Given the description of an element on the screen output the (x, y) to click on. 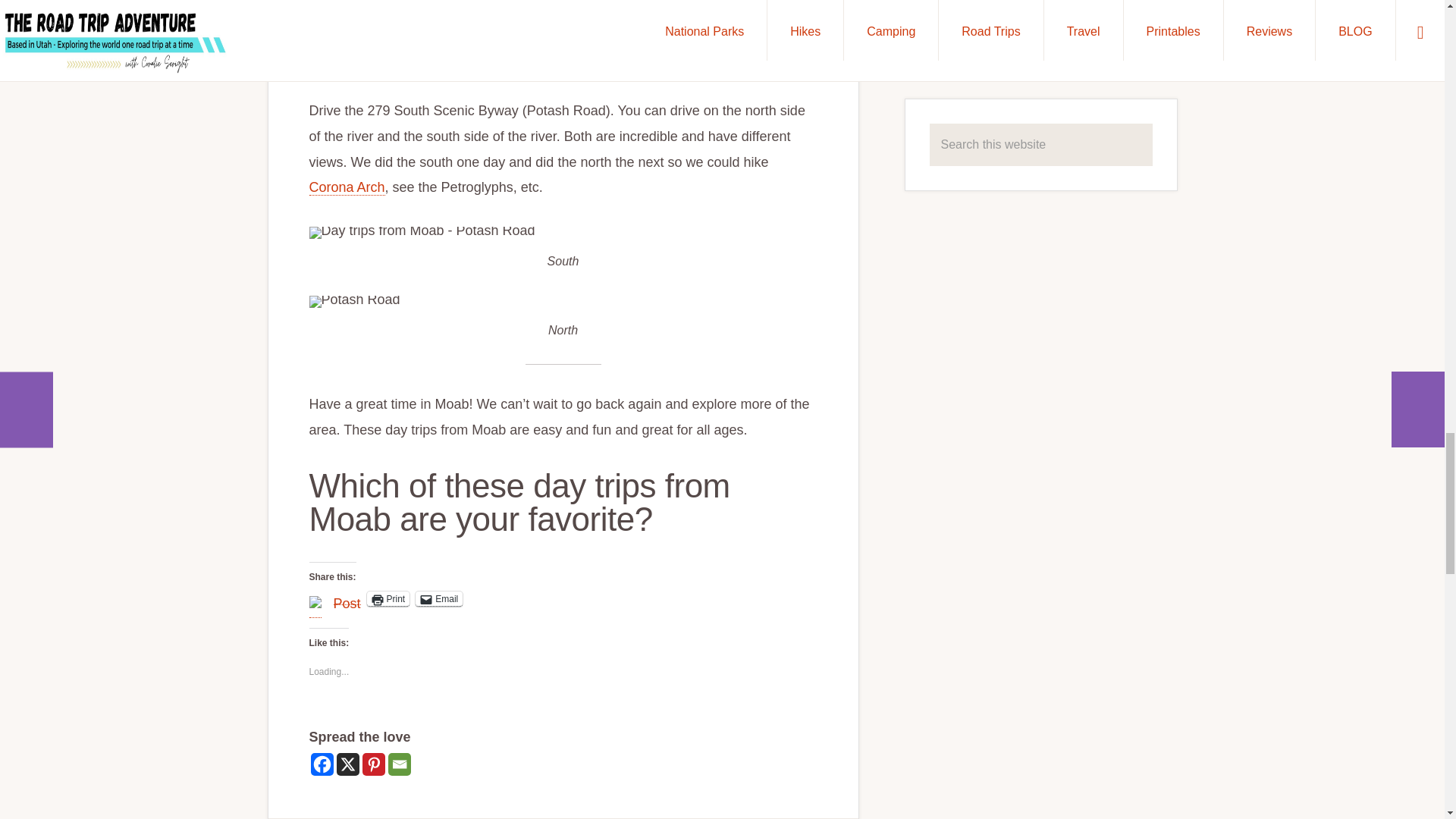
Pinterest (373, 763)
Facebook (322, 763)
Click to print (388, 598)
Click to email a link to a friend (438, 598)
X (347, 763)
Email (399, 763)
